Given the description of an element on the screen output the (x, y) to click on. 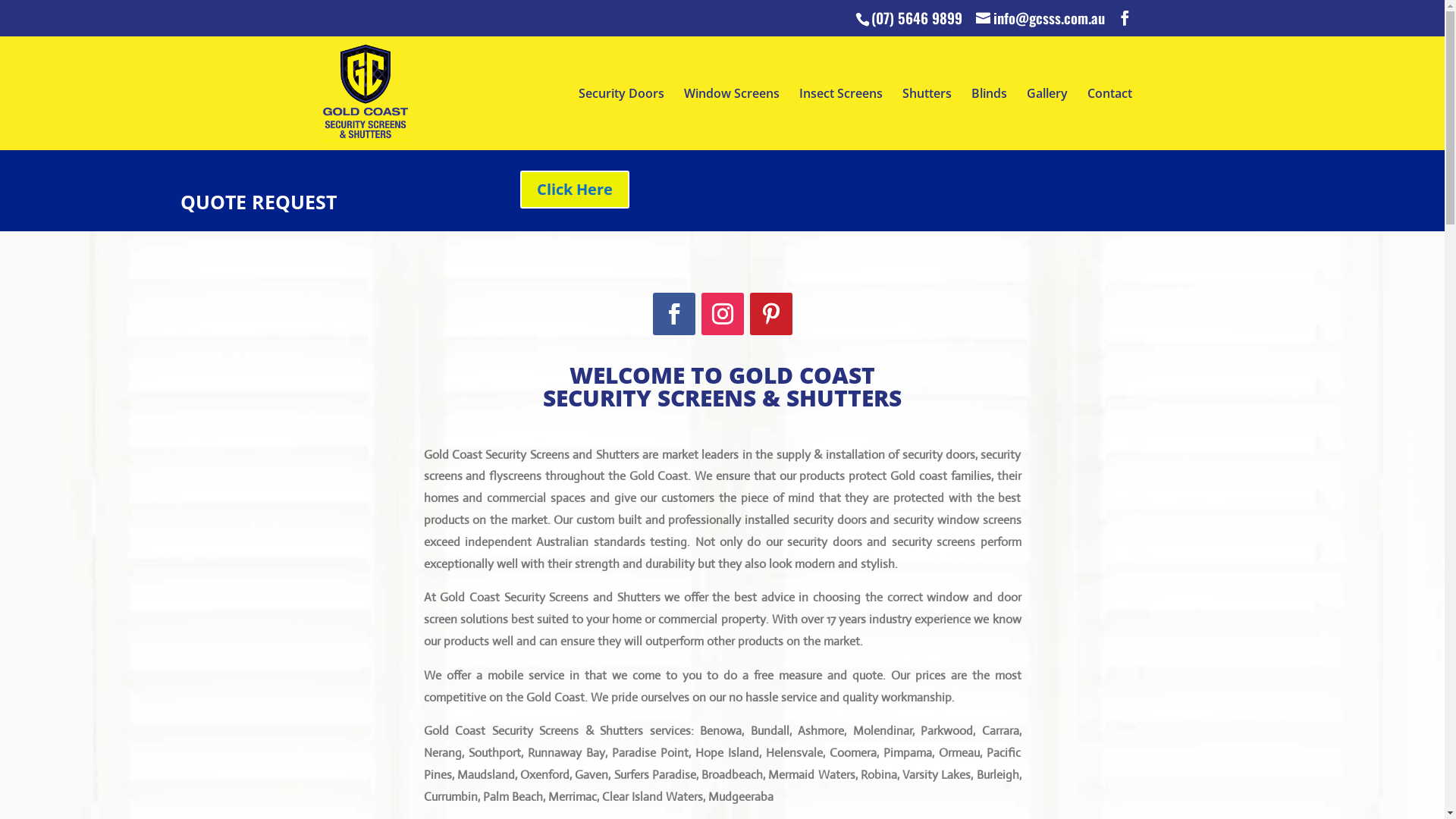
Follow on Facebook Element type: hover (673, 313)
Window Screens Element type: text (731, 118)
Follow on Instagram Element type: hover (721, 313)
Insect Screens Element type: text (840, 118)
Gallery Element type: text (1046, 118)
Blinds Element type: text (988, 118)
Security Doors Element type: text (620, 118)
Follow on Pinterest Element type: hover (770, 313)
Contact Element type: text (1109, 118)
Shutters Element type: text (926, 118)
(07) 5646 9899 Element type: text (915, 17)
info@gcsss.com.au Element type: text (1039, 17)
Click Here Element type: text (574, 188)
